Given the description of an element on the screen output the (x, y) to click on. 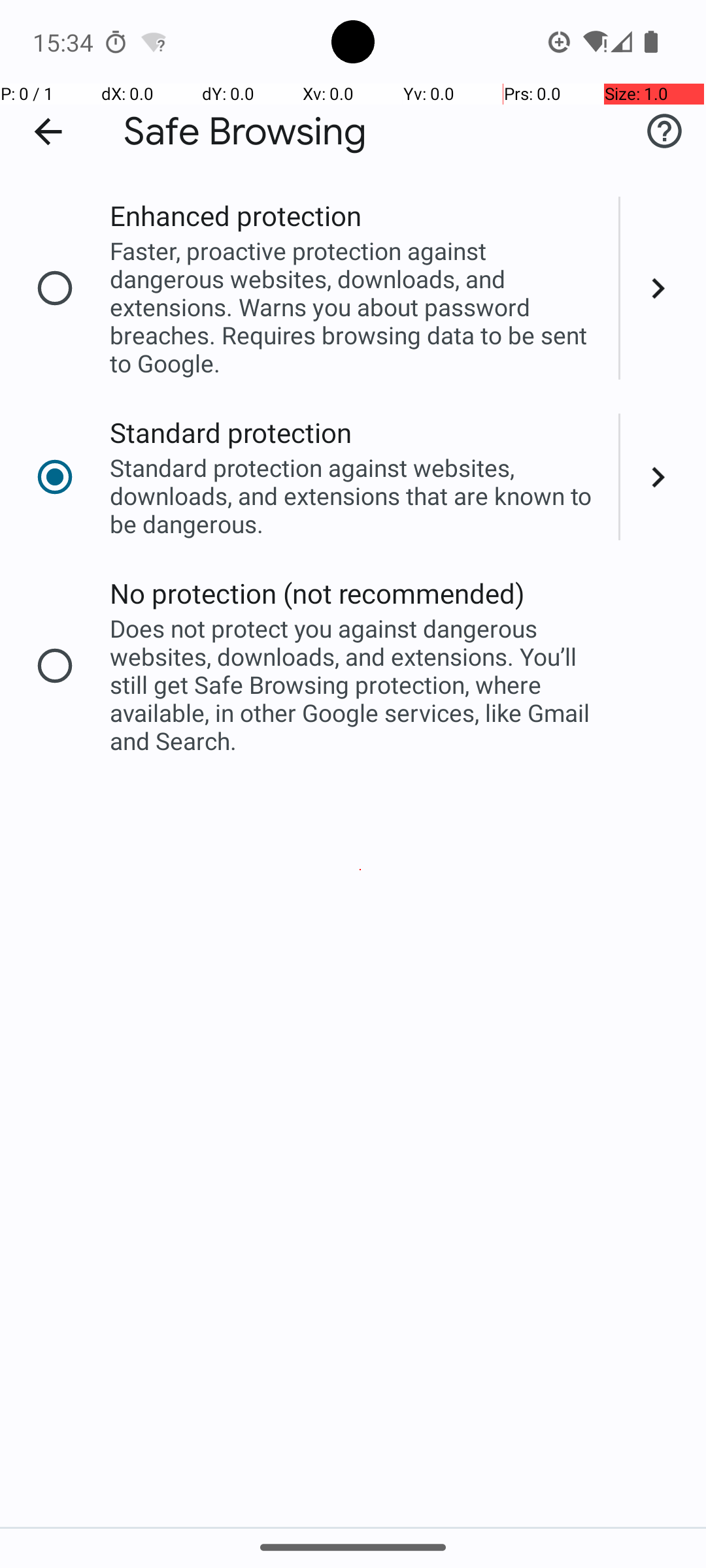
Safe Browsing Element type: android.widget.TextView (244, 131)
Enhanced protection Element type: android.widget.TextView (235, 214)
Faster, proactive protection against dangerous websites, downloads, and extensions. Warns you about password breaches. Requires browsing data to be sent to Google. Element type: android.widget.TextView (355, 306)
Standard protection Element type: android.widget.TextView (230, 431)
Standard protection against websites, downloads, and extensions that are known to be dangerous. Element type: android.widget.TextView (355, 495)
No protection (not recommended) Element type: android.widget.TextView (317, 592)
Does not protect you against dangerous websites, downloads, and extensions. You’ll still get Safe Browsing protection, where available, in other Google services, like Gmail and Search. Element type: android.widget.TextView (355, 684)
